Given the description of an element on the screen output the (x, y) to click on. 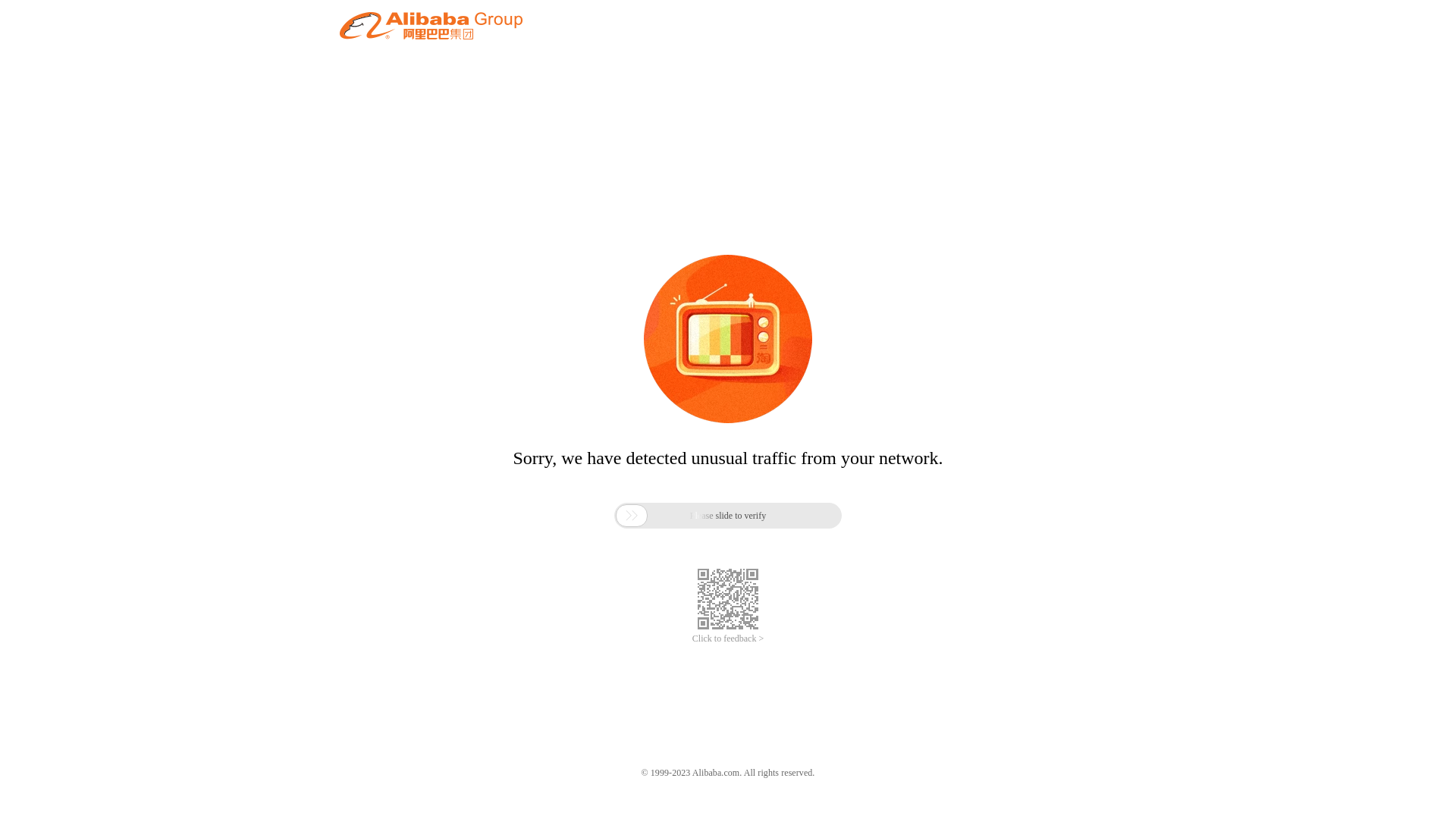
Click to feedback > Element type: text (727, 638)
